Given the description of an element on the screen output the (x, y) to click on. 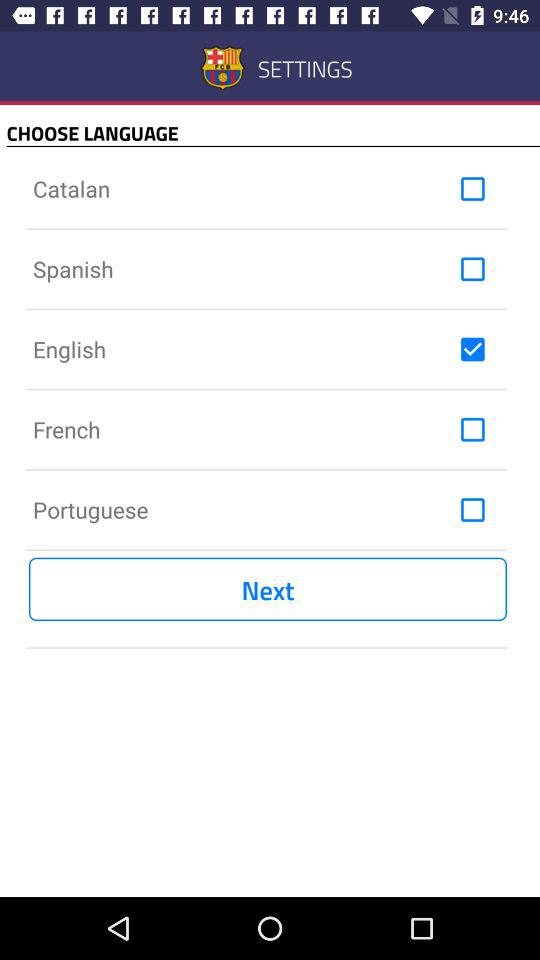
chosen language english (472, 349)
